Given the description of an element on the screen output the (x, y) to click on. 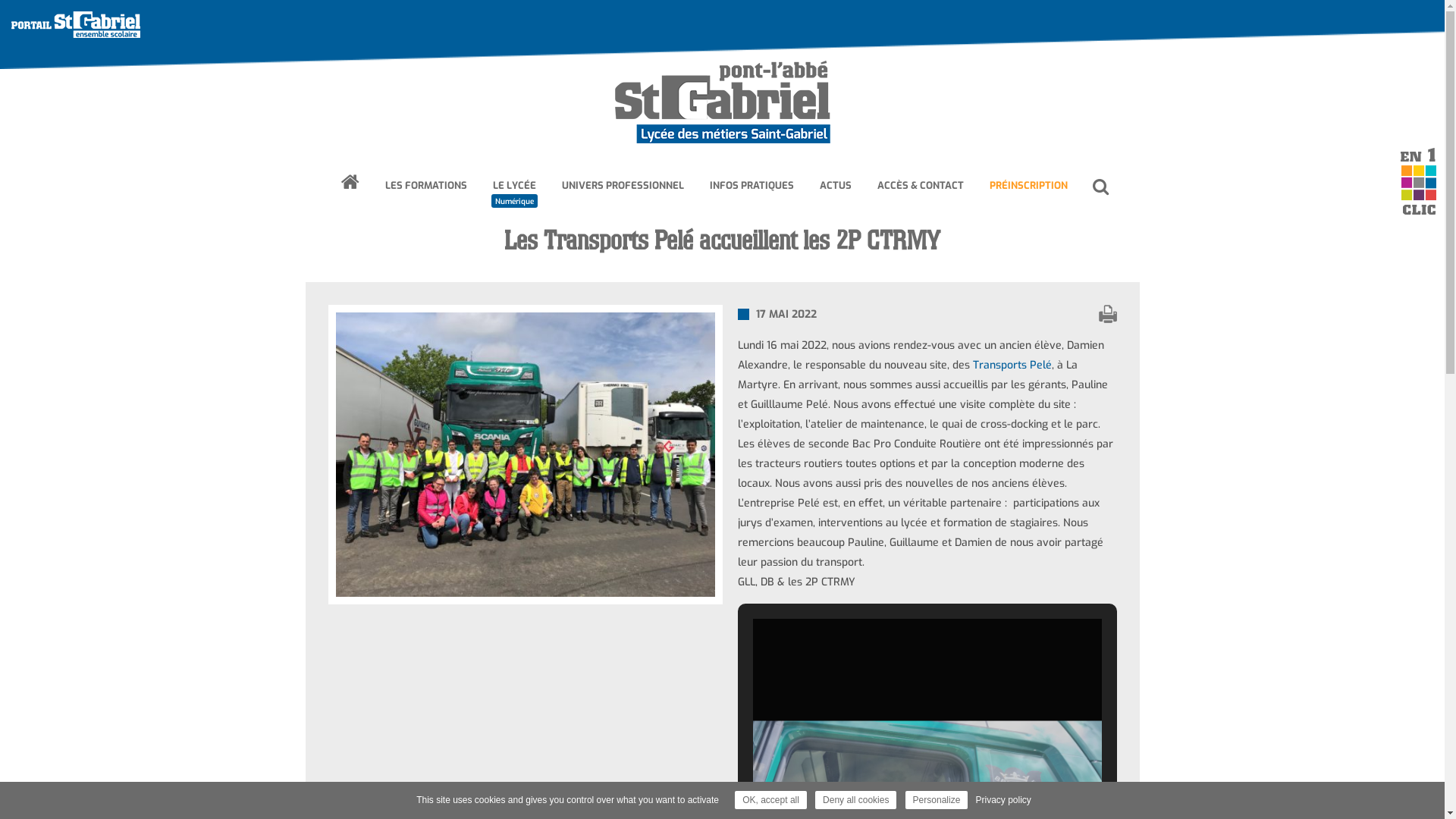
INFOS PRATIQUES Element type: text (751, 185)
OK, accept all Element type: text (770, 799)
ACTUS Element type: text (835, 185)
LES FORMATIONS Element type: text (425, 185)
UNIVERS PROFESSIONNEL Element type: text (622, 185)
Retour au portail de l'ensemble scolaire Element type: hover (77, 24)
Deny all cookies Element type: text (855, 799)
Privacy policy Element type: text (1002, 799)
Personalize Element type: text (936, 799)
